Given the description of an element on the screen output the (x, y) to click on. 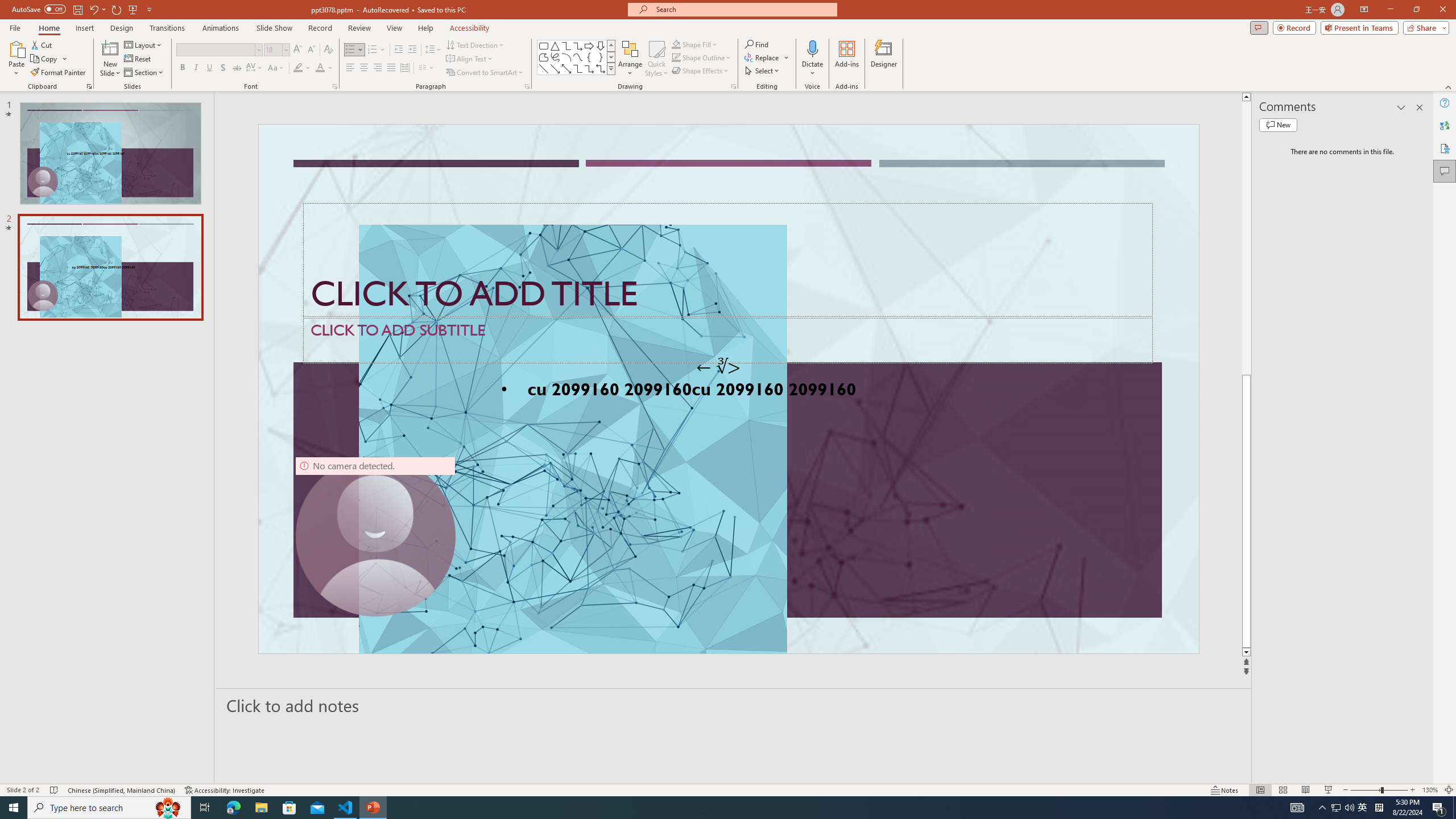
Translator (1444, 125)
Ribbon Display Options (1364, 9)
